Given the description of an element on the screen output the (x, y) to click on. 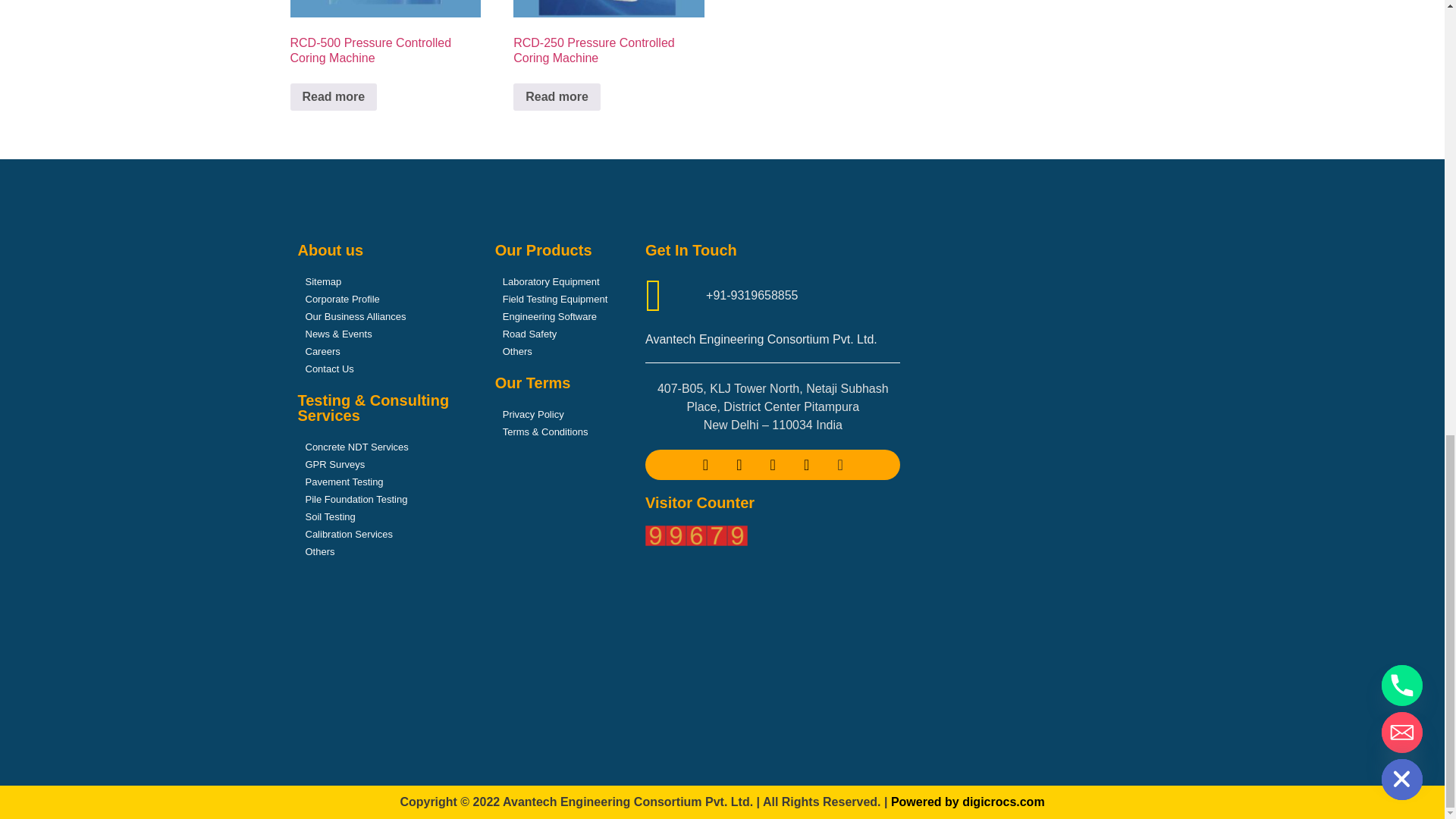
web counter (696, 535)
web counter (696, 541)
